Given the description of an element on the screen output the (x, y) to click on. 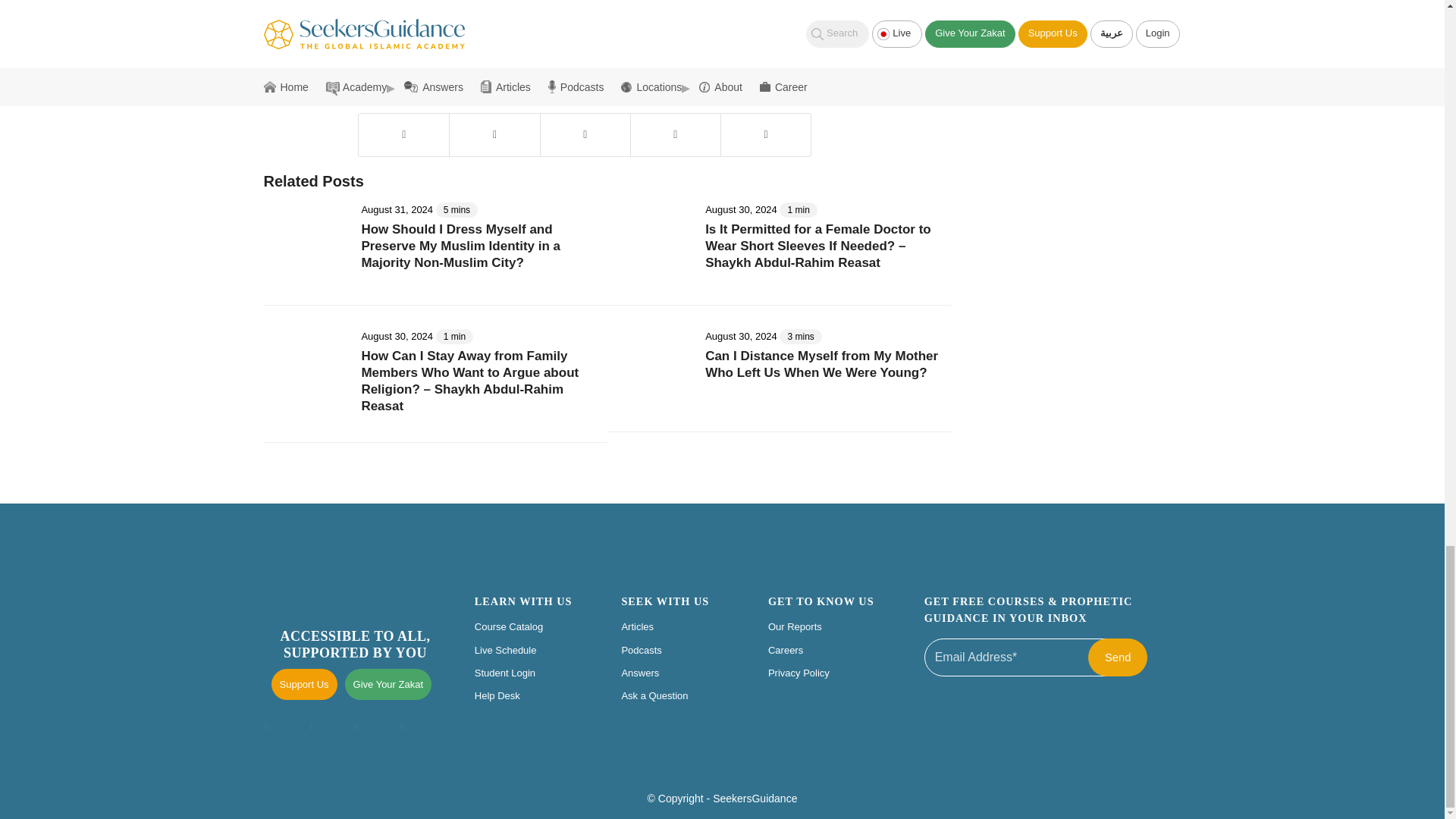
send (1117, 657)
cover (437, 32)
covering at home (495, 32)
convert (403, 32)
